Given the description of an element on the screen output the (x, y) to click on. 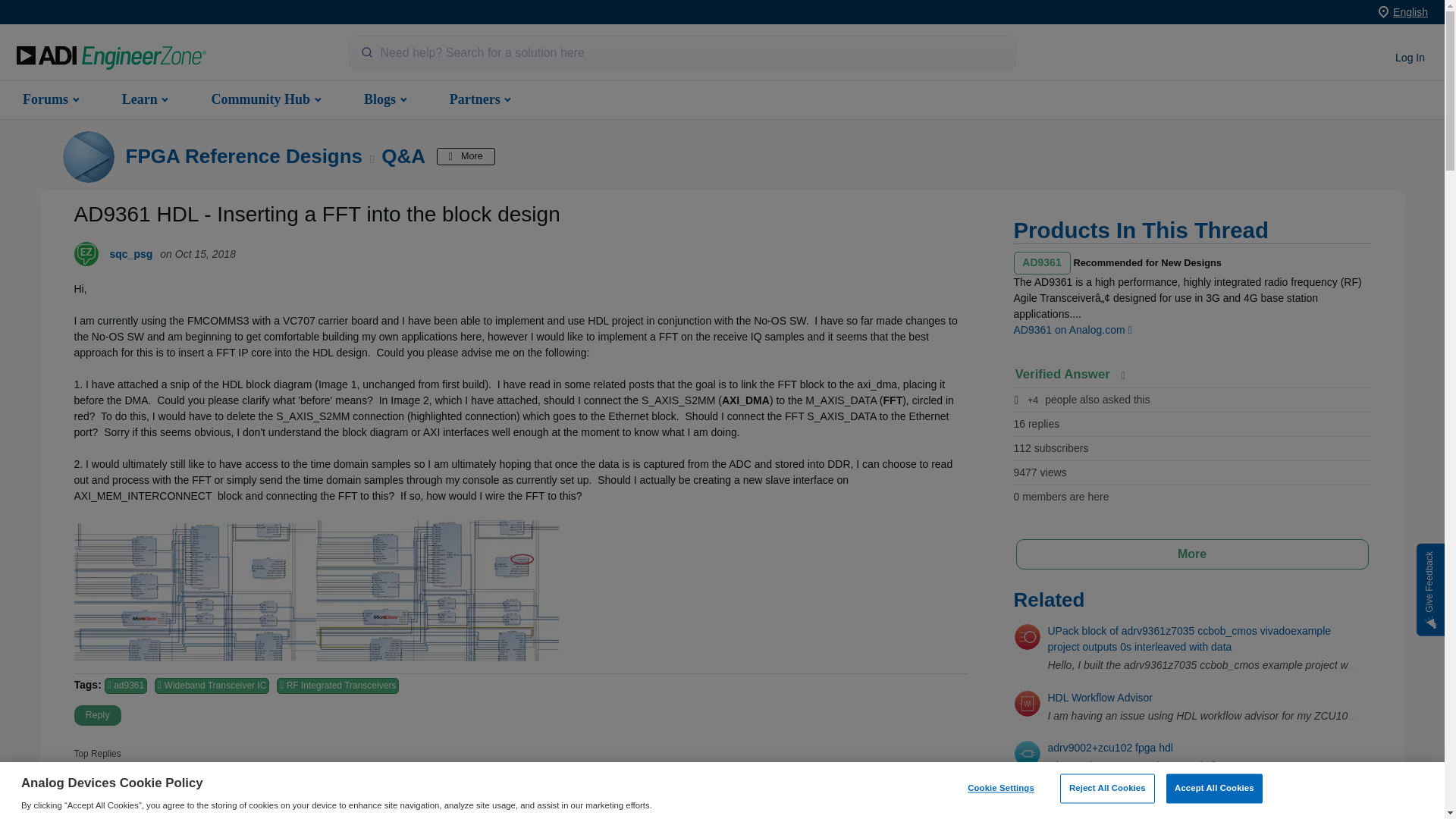
Forums (49, 98)
English (1410, 11)
Analog Employees (189, 795)
Log In (1409, 57)
Home (111, 57)
Join or sign in (1409, 57)
